Given the description of an element on the screen output the (x, y) to click on. 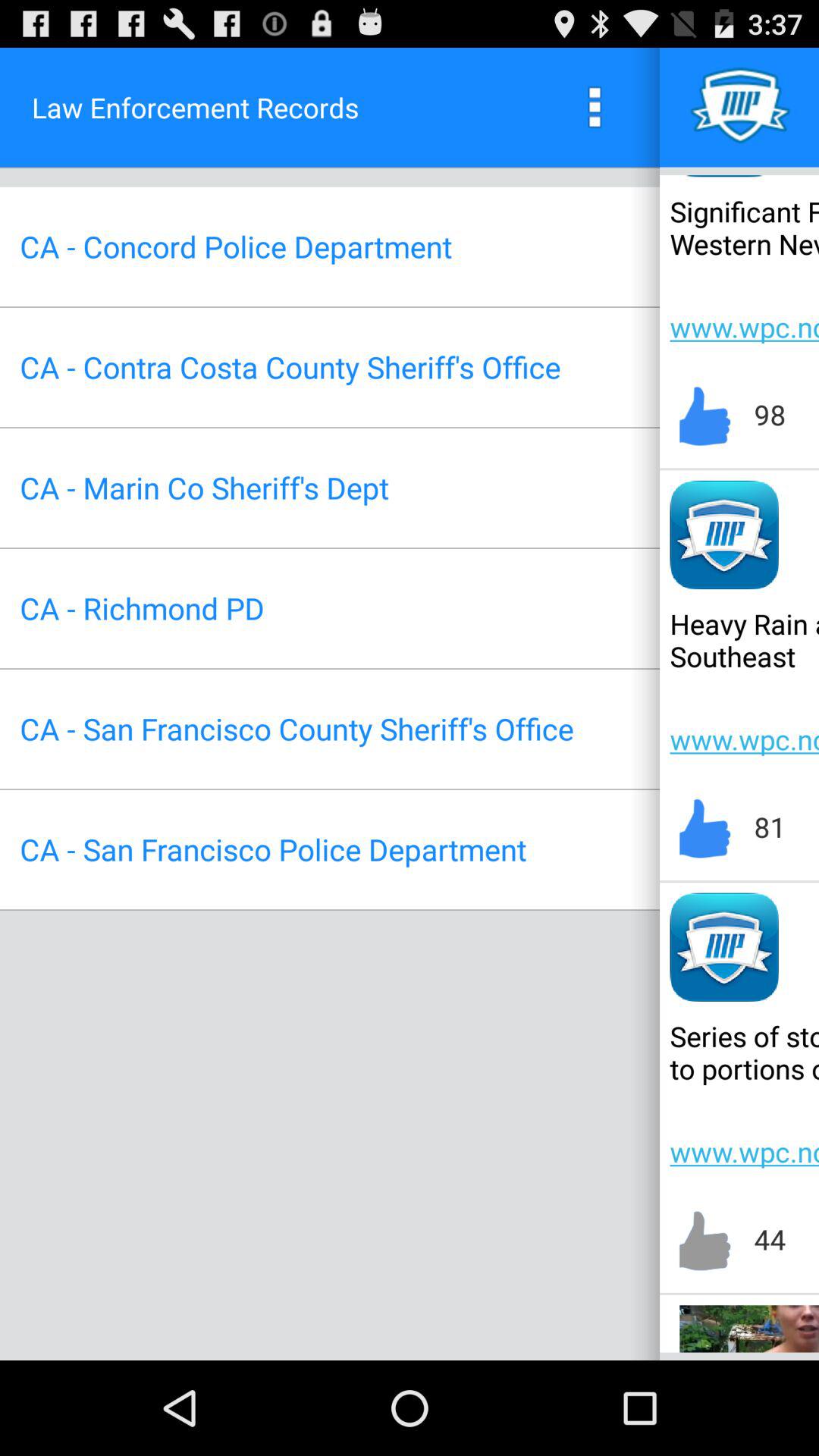
turn off ca - richmond pd icon (141, 608)
